Given the description of an element on the screen output the (x, y) to click on. 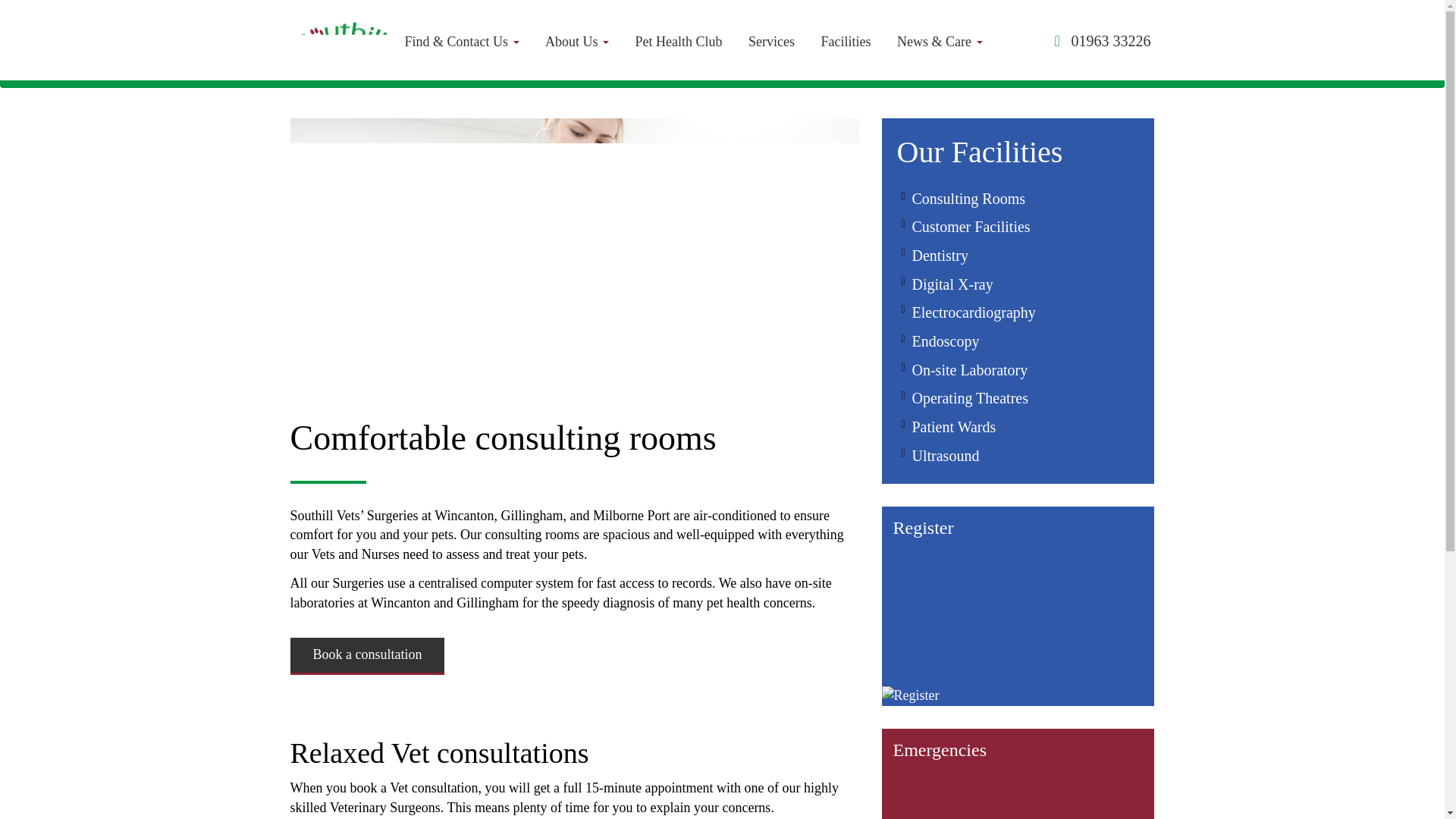
Book a consultation (366, 656)
Digital X-ray (951, 284)
Facilities (845, 41)
Services (771, 41)
Pet Health Club (678, 41)
Consulting Rooms (968, 197)
About Us (577, 41)
Endoscopy (944, 340)
01963 33226 (1110, 34)
Electrocardiography (973, 312)
